Given the description of an element on the screen output the (x, y) to click on. 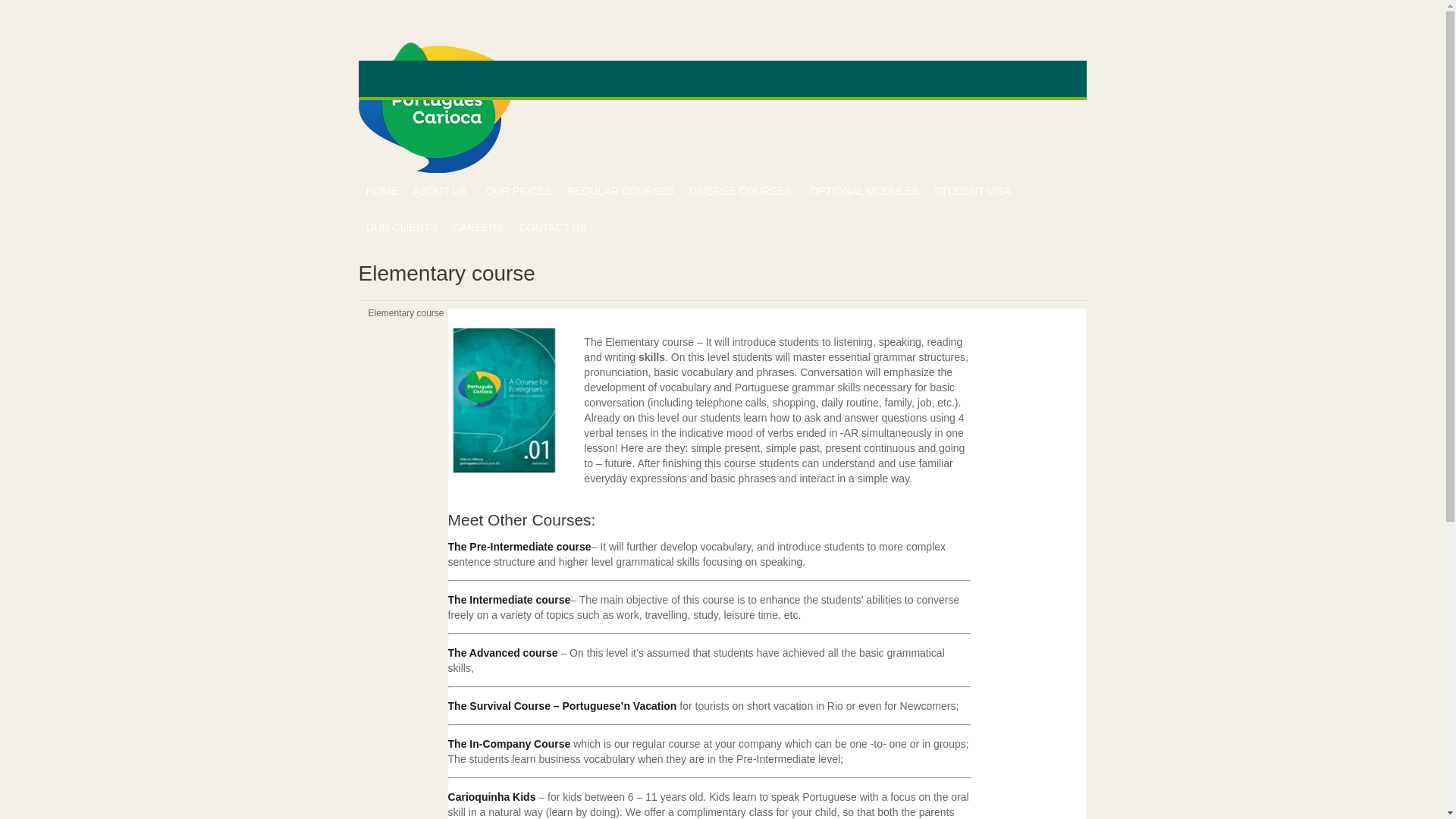
CONTACT US (552, 227)
CAREERS (478, 227)
OUR CLIENTS (401, 227)
OUR PRICES (519, 190)
DIVERSE COURSES (742, 190)
Portugues Carioca (435, 106)
HOME (381, 190)
ABOUT US (440, 190)
STUDENT VISA (972, 190)
OPTIONAL MODULES (864, 190)
